Given the description of an element on the screen output the (x, y) to click on. 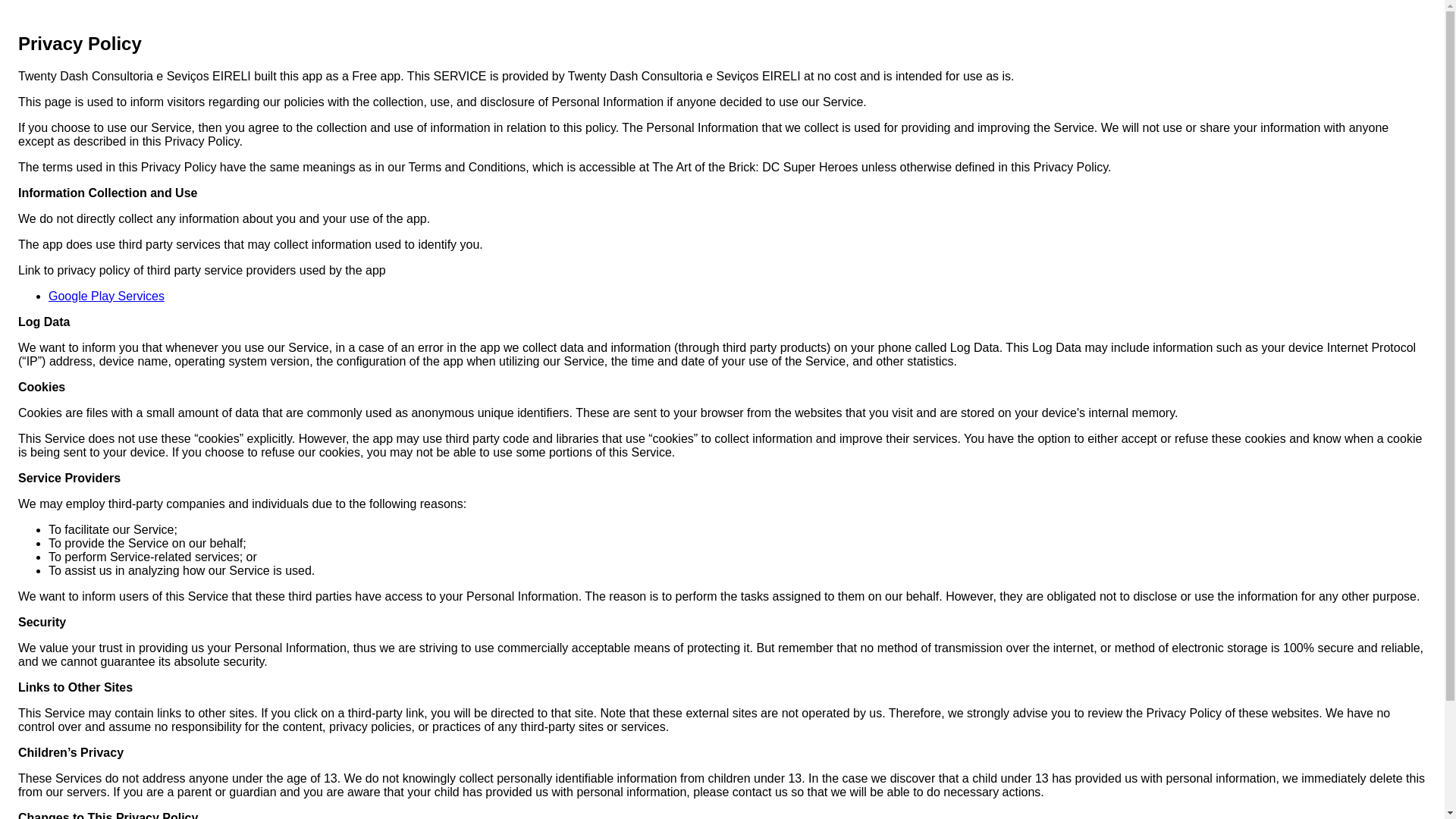
Google Play Services Element type: text (106, 295)
